Given the description of an element on the screen output the (x, y) to click on. 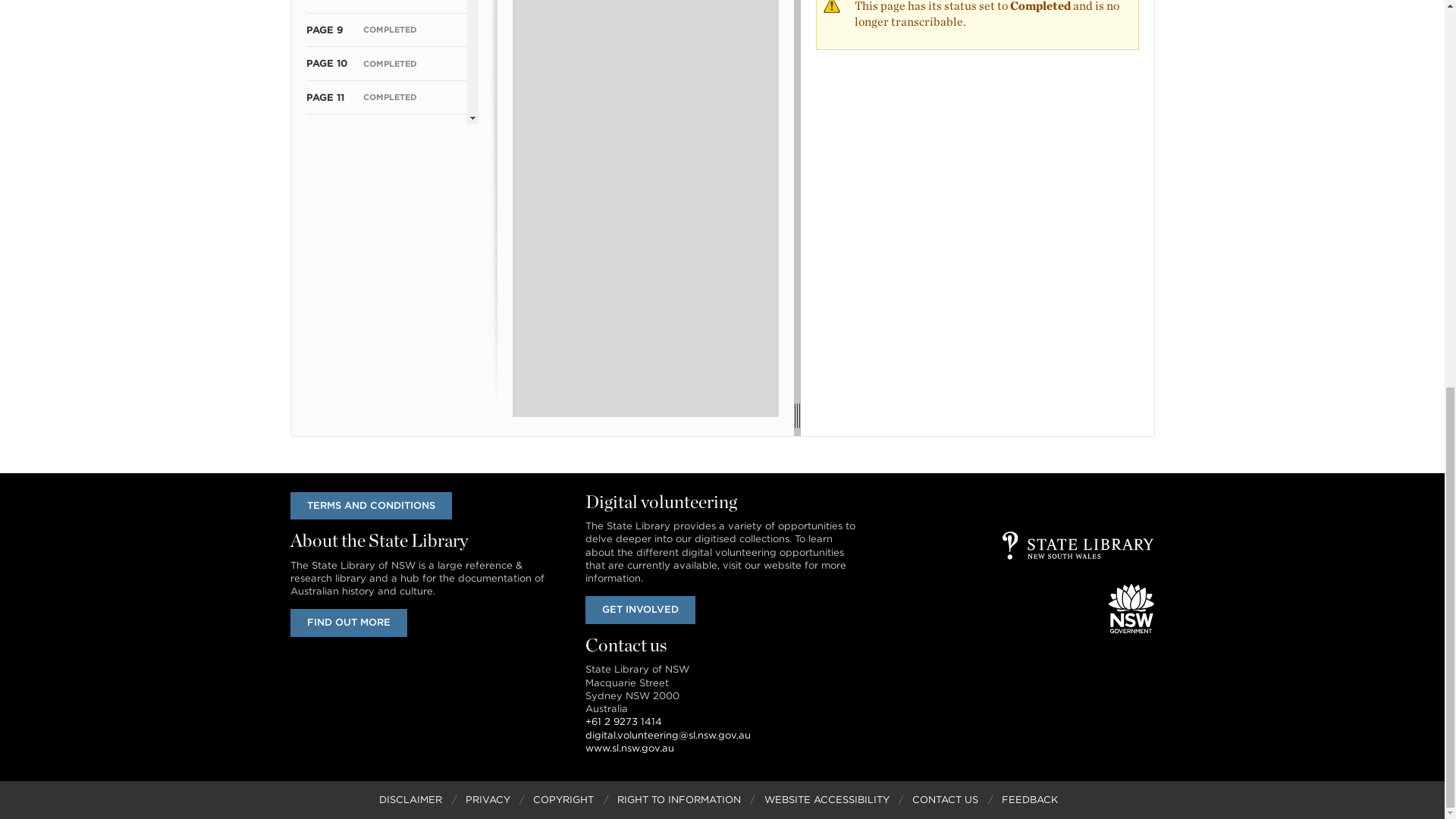
PAGE 17 (325, 297)
PAGE 19 (326, 365)
PAGE 14 (326, 197)
PAGE 20 (327, 398)
PAGE 8 (323, 1)
PAGE 10 (326, 62)
PAGE 25 (327, 567)
PAGE 24 (327, 532)
PAGE 11 (324, 97)
PAGE 22 (327, 466)
